Given the description of an element on the screen output the (x, y) to click on. 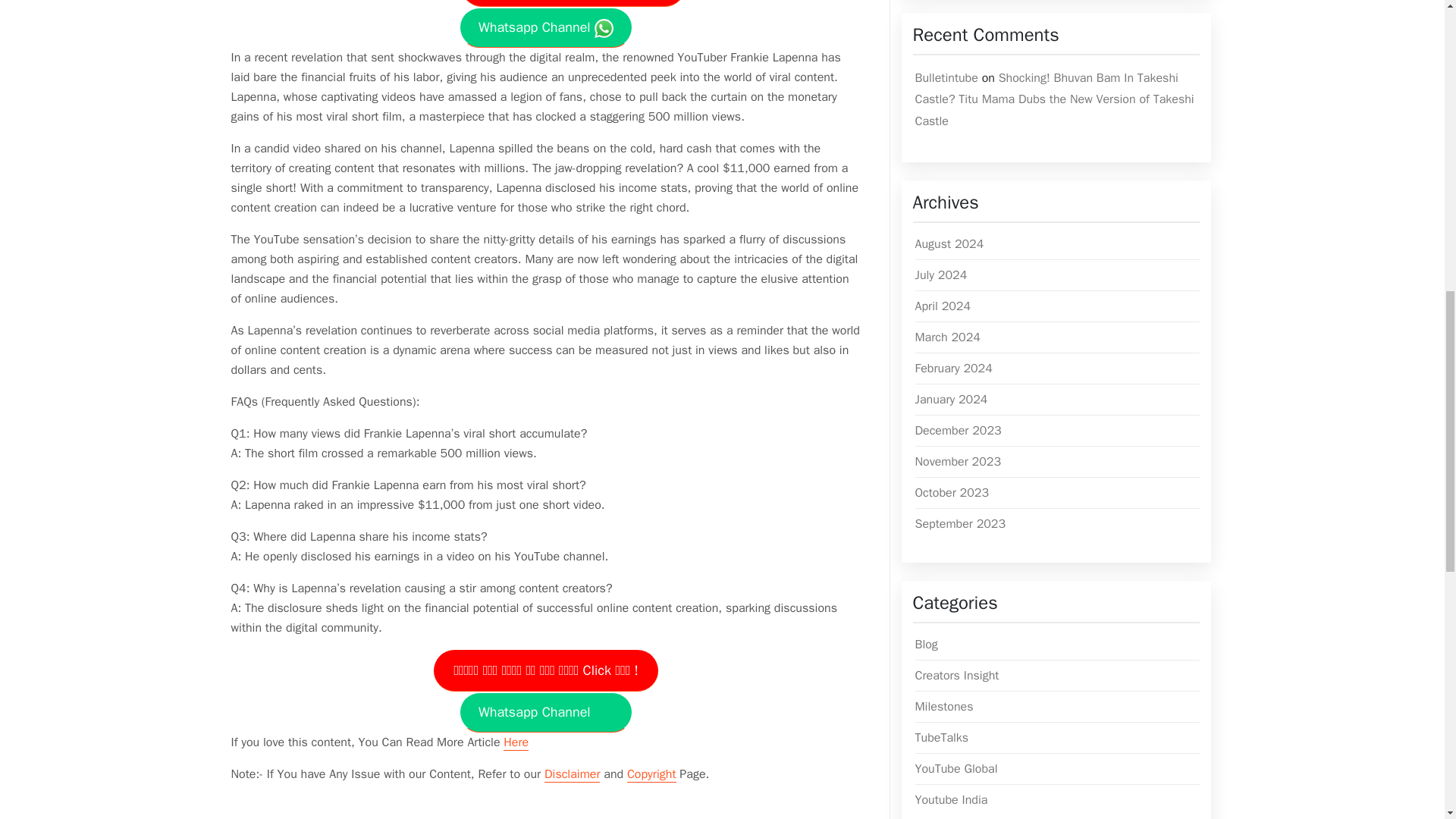
Whatsapp Channel (545, 711)
Whatsapp Channel (545, 26)
Here (515, 742)
Copyright (652, 774)
Disclaimer (571, 774)
